Given the description of an element on the screen output the (x, y) to click on. 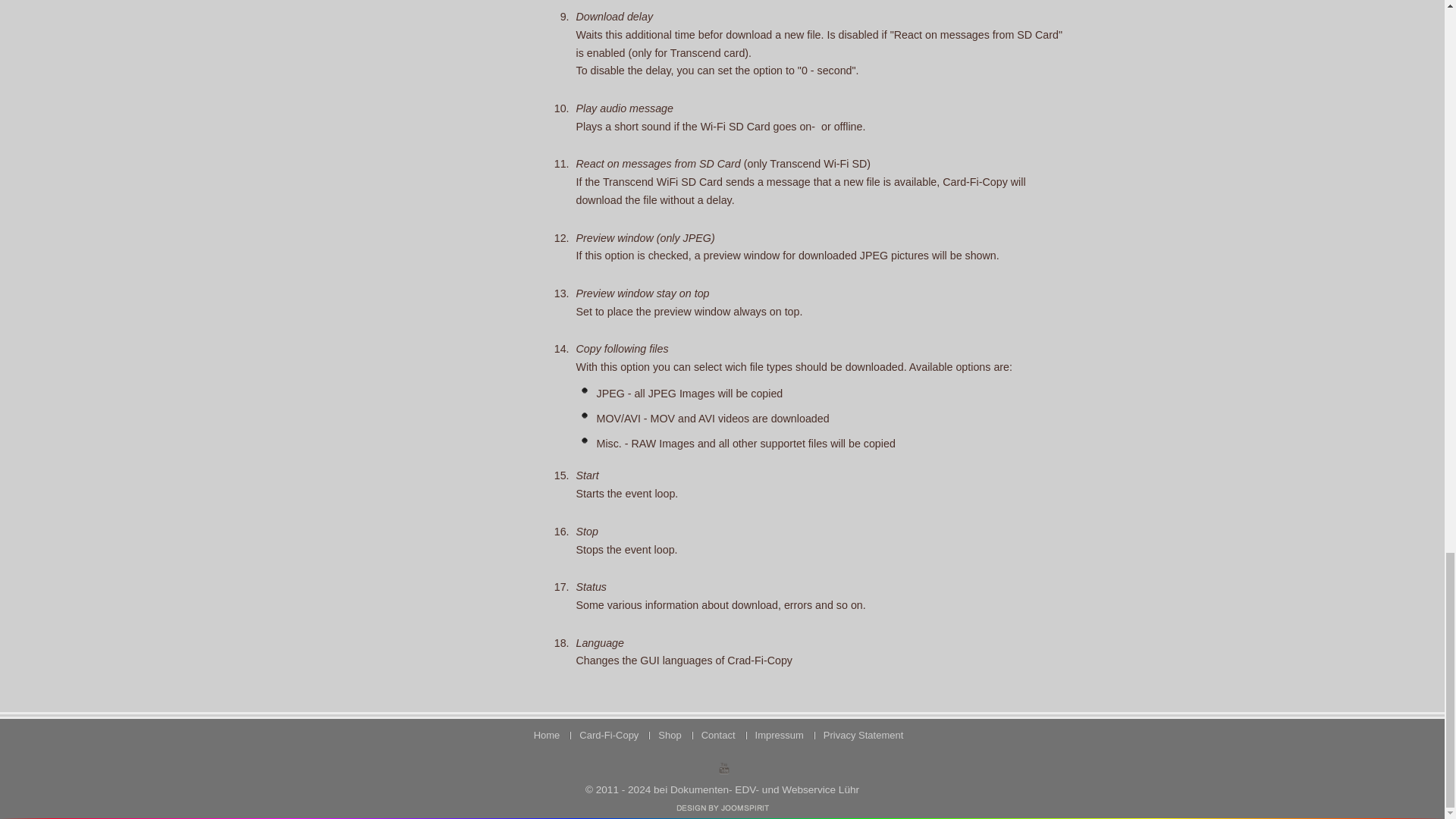
Privacy Statement (863, 734)
Card-Fi-Copy (609, 734)
Impressum (779, 734)
template-joomspirit.com (722, 807)
Shop (669, 734)
Home (546, 734)
Youtube (723, 767)
Contact (718, 734)
